Given the description of an element on the screen output the (x, y) to click on. 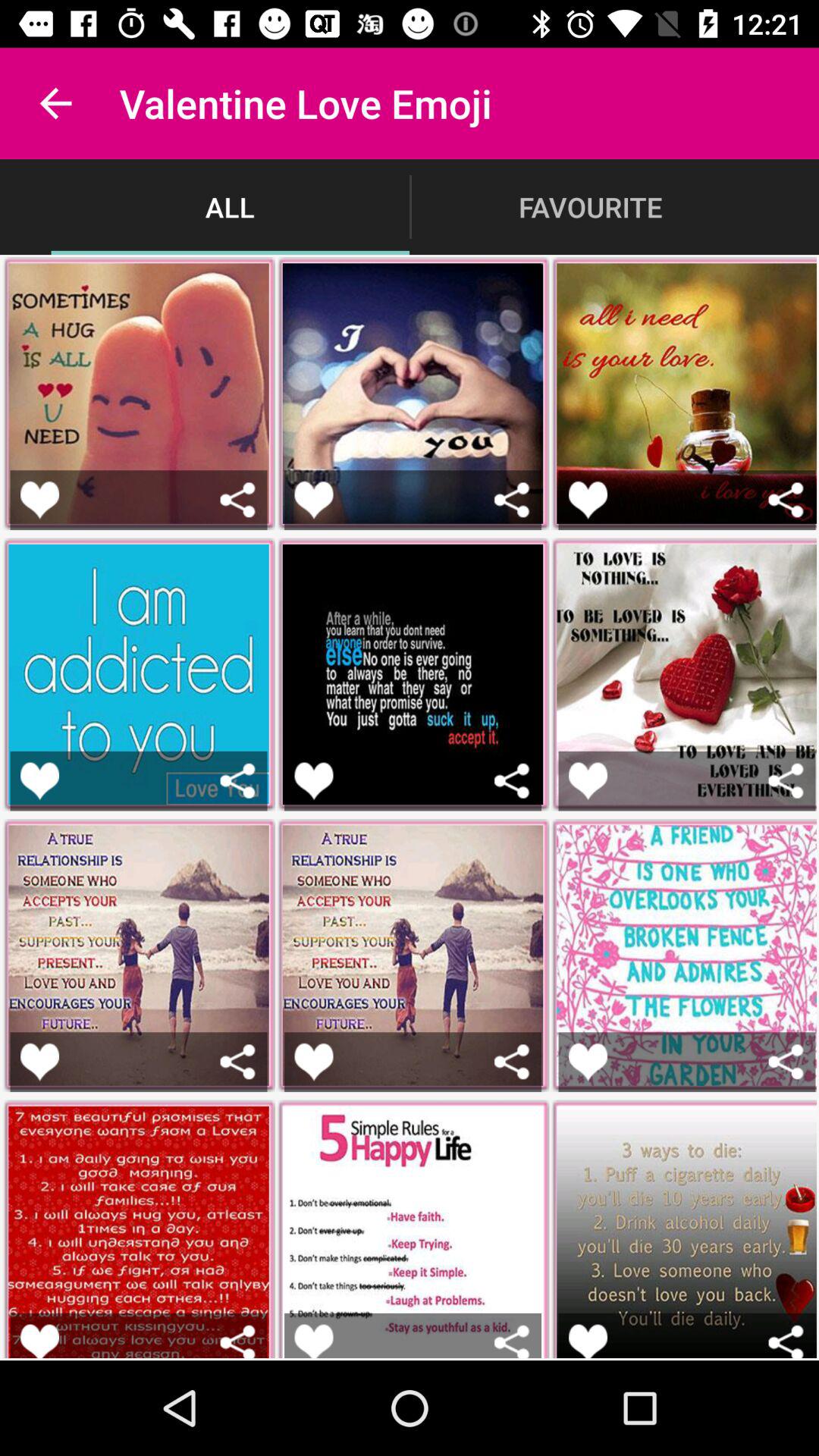
share the picture (785, 499)
